Given the description of an element on the screen output the (x, y) to click on. 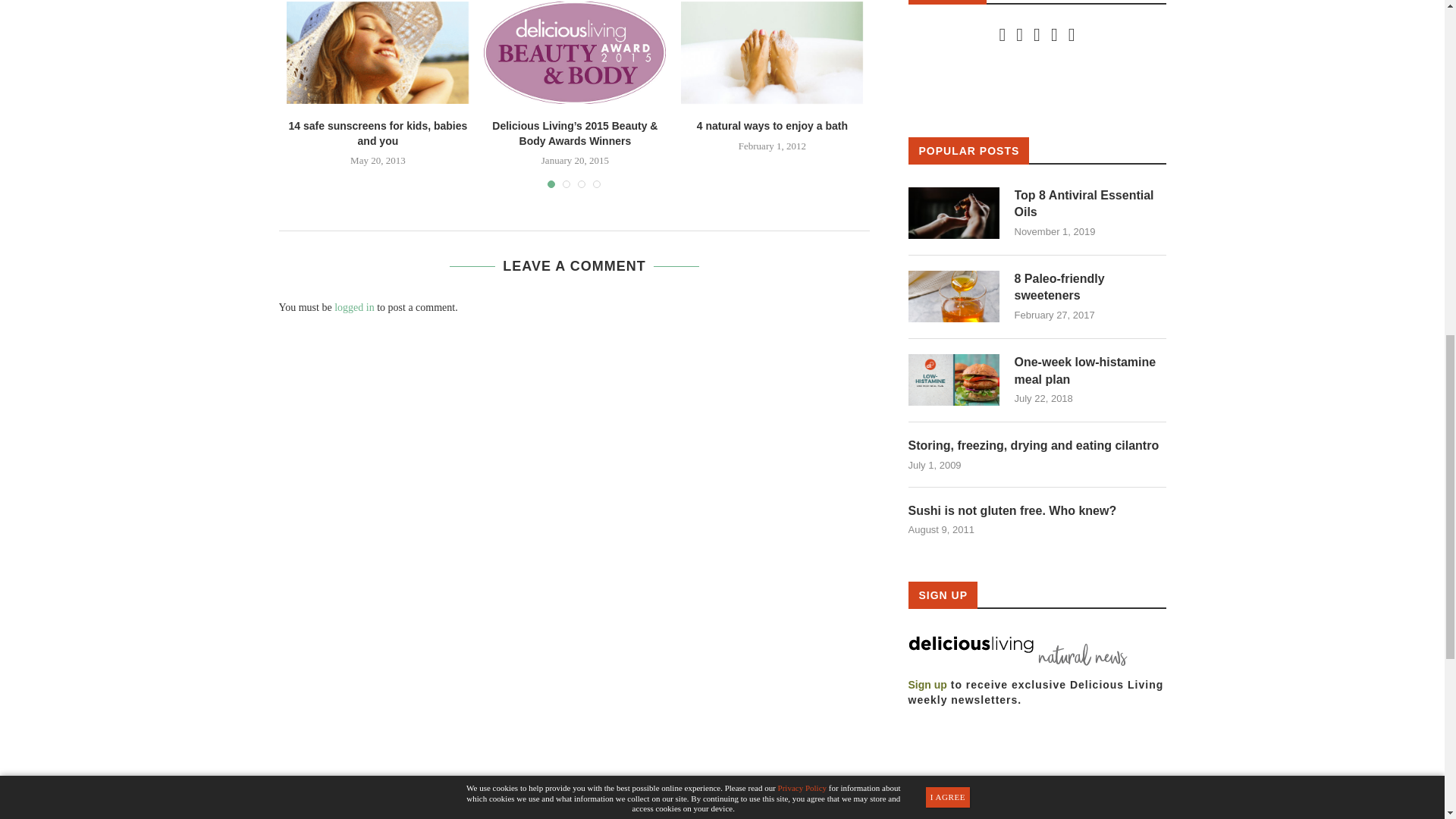
4 natural ways to enjoy a bath (772, 53)
14 safe sunscreens for kids, babies and you (377, 53)
